Given the description of an element on the screen output the (x, y) to click on. 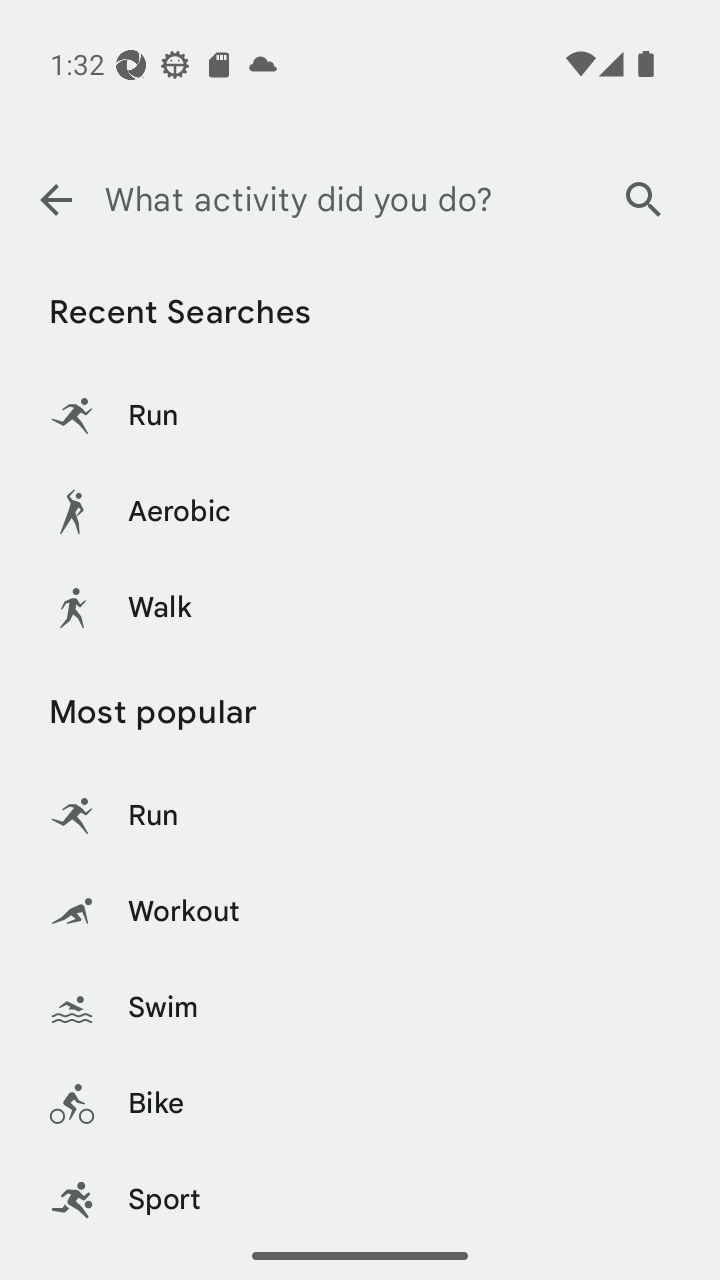
Search Back Search What activity did you do? (360, 199)
Back (55, 200)
Run (360, 415)
Aerobic (360, 511)
Walk (360, 607)
Run (360, 816)
Workout (360, 912)
Swim (360, 1008)
Bike (360, 1104)
Sport (360, 1191)
